Given the description of an element on the screen output the (x, y) to click on. 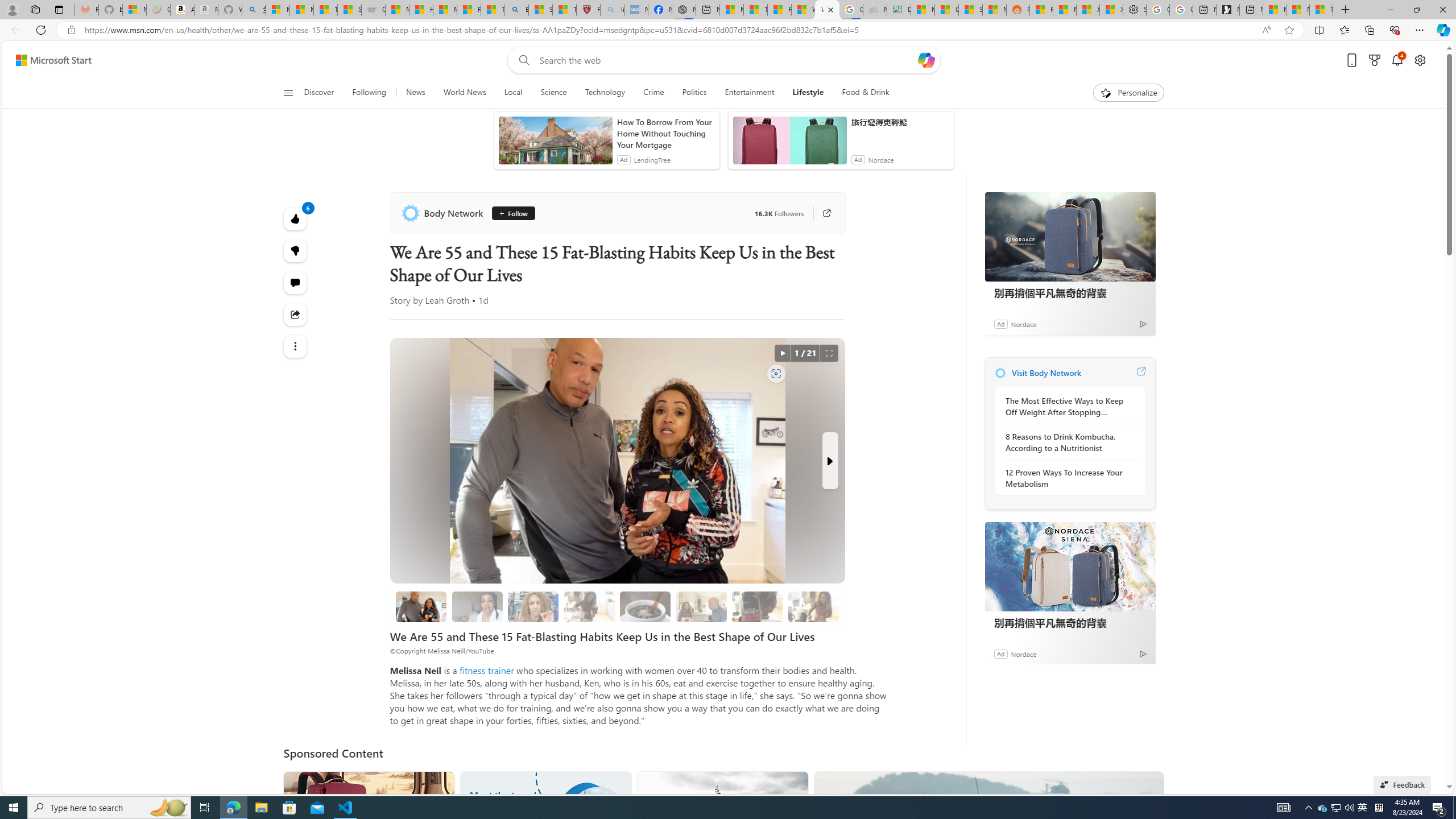
Follow (508, 213)
Recipes - MSN (469, 9)
8 Reasons to Drink Kombucha, According to a Nutritionist (1066, 441)
12 Proven Ways To Increase Your Metabolism (1066, 477)
14 Common Myths Debunked By Scientific Facts (754, 9)
